Given the description of an element on the screen output the (x, y) to click on. 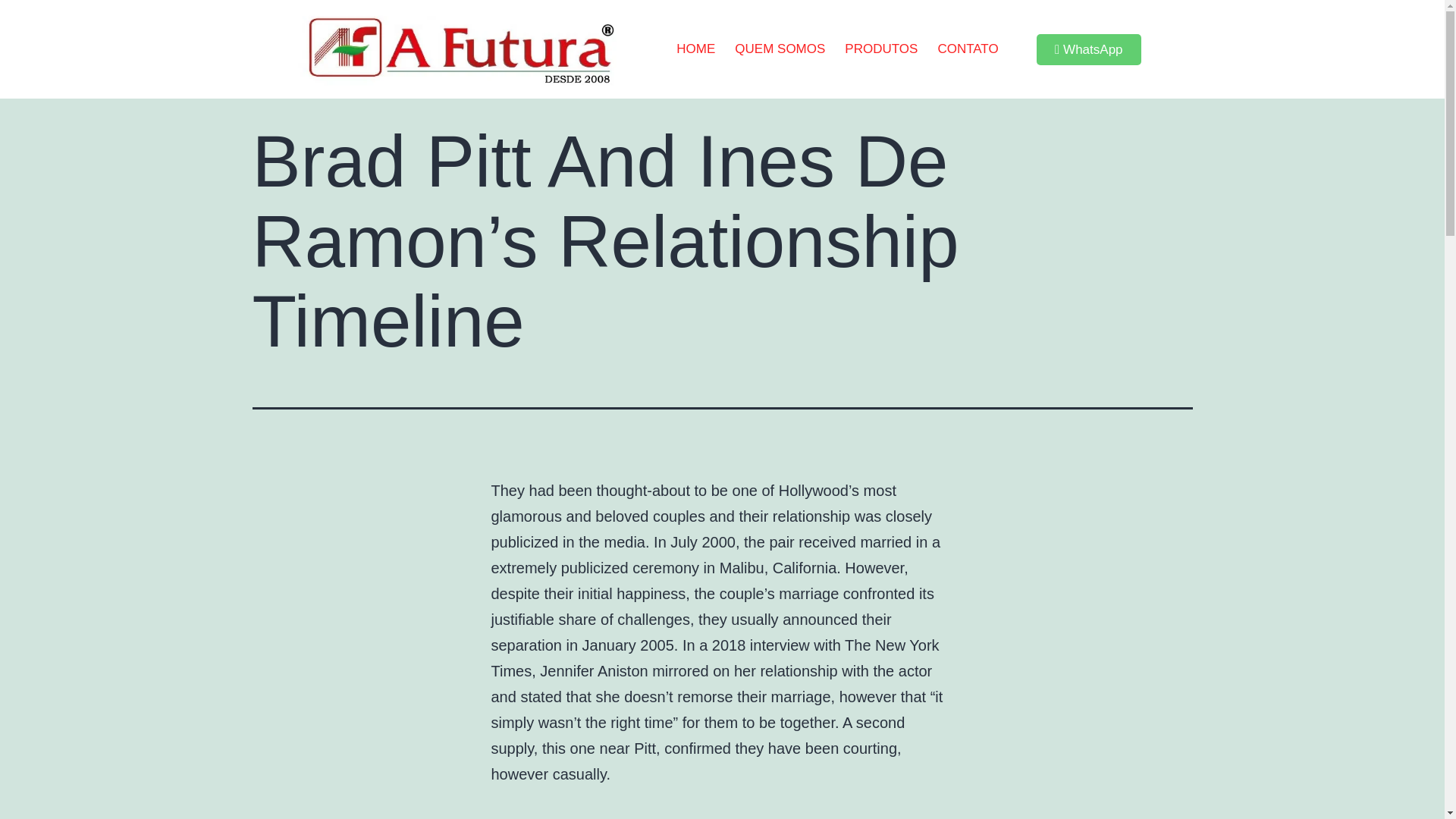
QUEM SOMOS (779, 48)
CONTATO (967, 48)
WhatsApp (1088, 49)
PRODUTOS (880, 48)
HOME (695, 48)
